Given the description of an element on the screen output the (x, y) to click on. 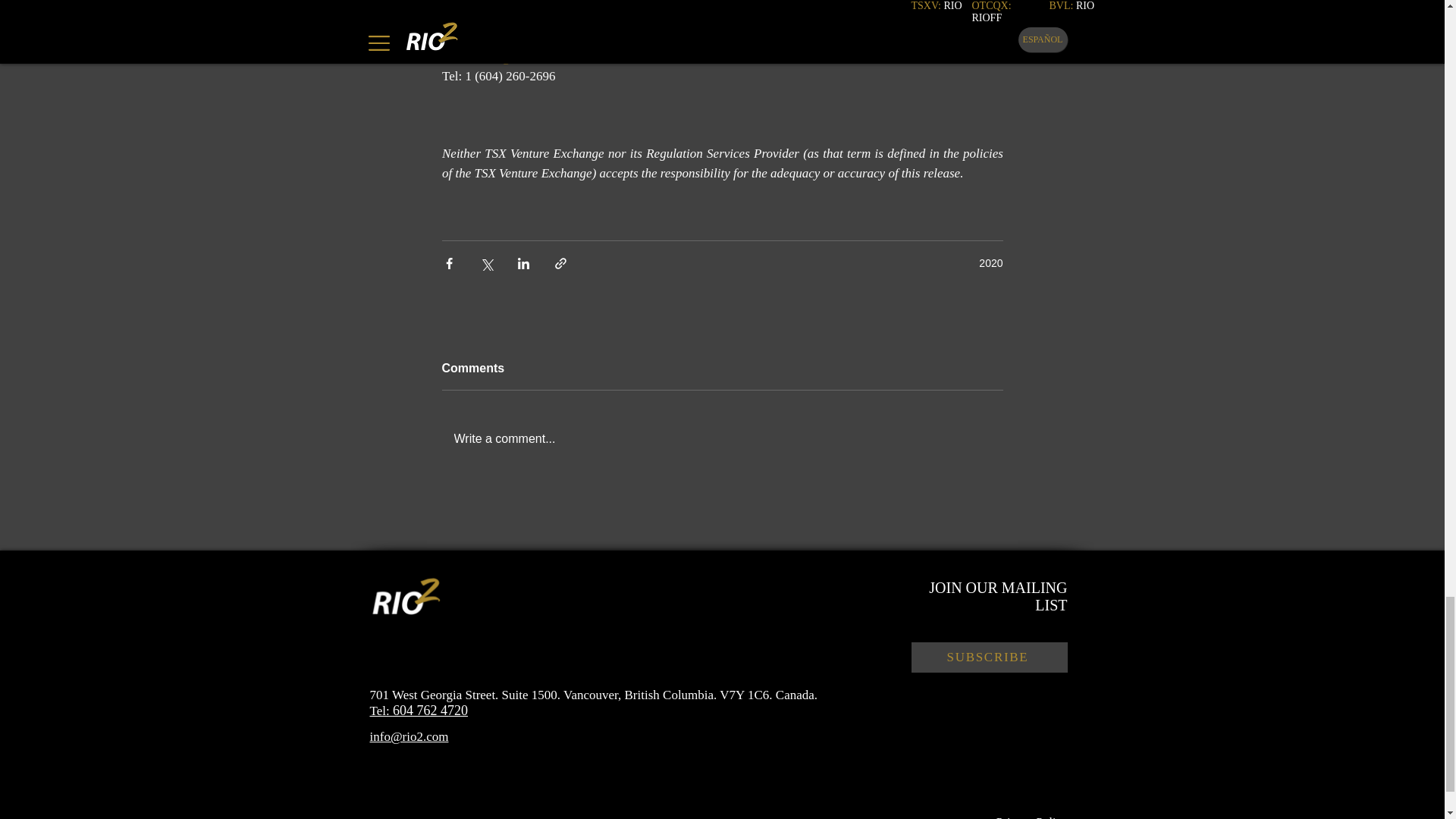
Tel: 604 762 4720 (418, 710)
Privacy Policy (1031, 817)
SUBSCRIBE (989, 656)
2020 (990, 263)
Write a comment... (722, 437)
